Given the description of an element on the screen output the (x, y) to click on. 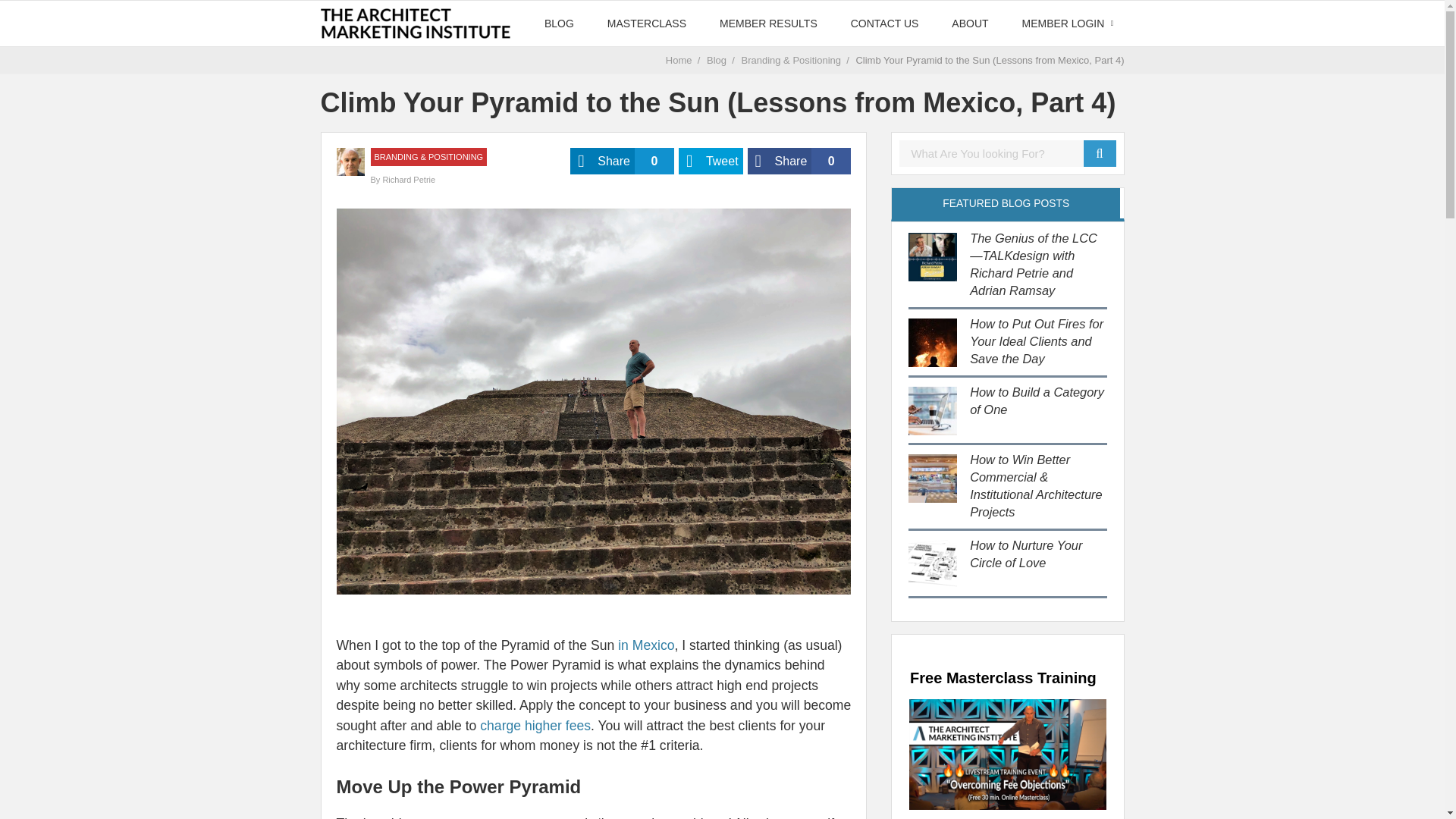
ABOUT (969, 22)
BLOG (559, 22)
charge higher fees (535, 725)
Richard Petrie (408, 179)
MEMBER LOGIN (622, 161)
in Mexico (1063, 22)
MEMBER RESULTS (799, 161)
Livestream Splash - Overcoming Fee Objections (645, 645)
MASTERCLASS (768, 22)
CONTACT US (1006, 754)
Tweet (647, 22)
